Given the description of an element on the screen output the (x, y) to click on. 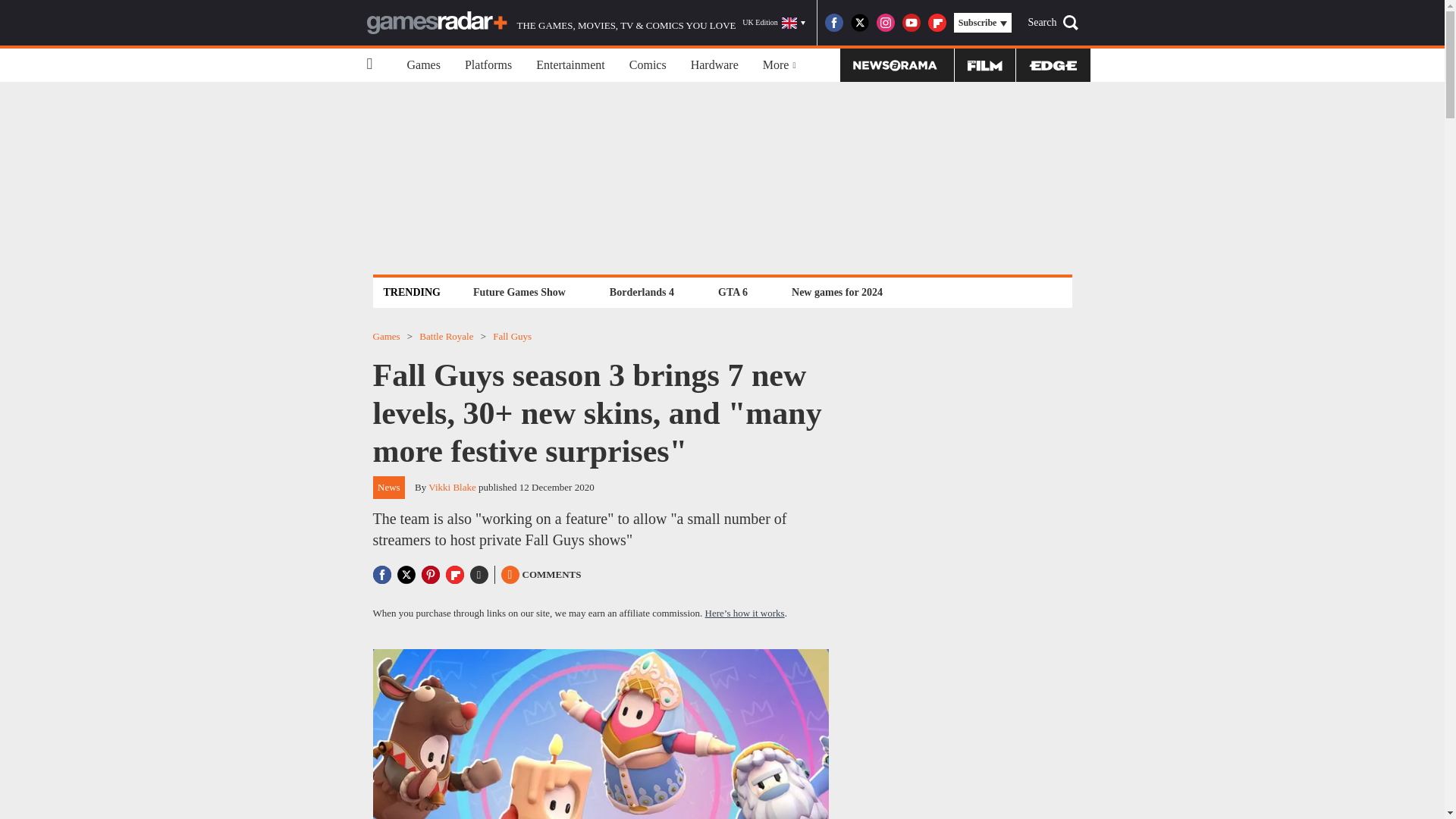
Comics (647, 64)
UK Edition (773, 22)
GTA 6 (732, 292)
Borderlands 4 (641, 292)
Future Games Show (518, 292)
Platforms (488, 64)
Games (422, 64)
Entertainment (570, 64)
Hardware (714, 64)
New games for 2024 (837, 292)
